Given the description of an element on the screen output the (x, y) to click on. 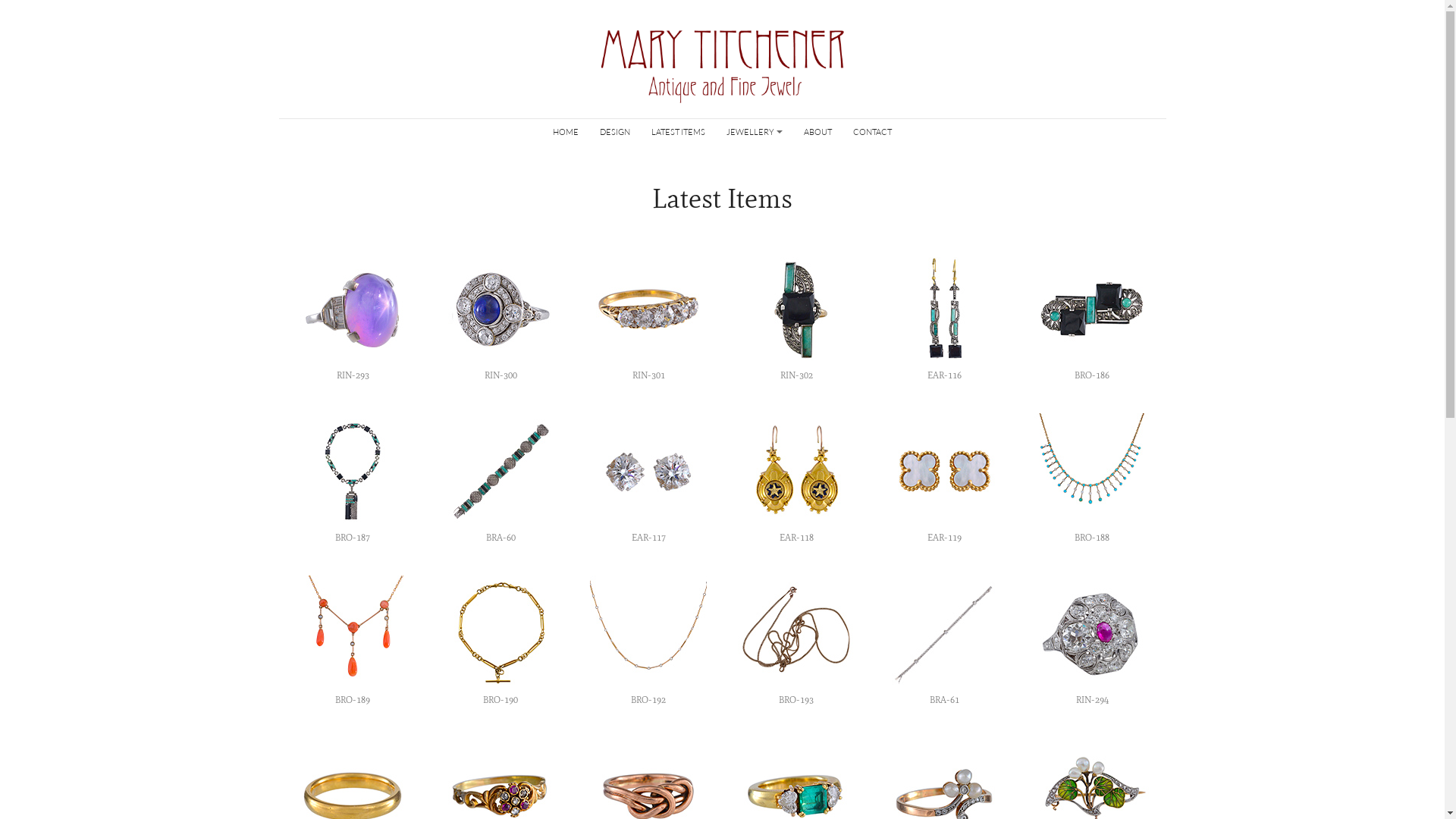
RIN-302 Element type: text (796, 316)
BRA-61 Element type: text (943, 641)
EAR-118 Element type: text (796, 479)
CONTACT Element type: text (872, 130)
BRO-187 Element type: text (351, 479)
HOME Element type: text (565, 130)
EAR-119 Element type: text (943, 479)
BRO-189 Element type: text (351, 641)
DESIGN Element type: text (614, 130)
LATEST ITEMS Element type: text (677, 130)
BRO-188 Element type: text (1091, 479)
RIN-301 Element type: text (647, 316)
RIN-300 Element type: text (500, 316)
RIN-293 Element type: text (351, 316)
BRO-190 Element type: text (500, 641)
JEWELLERY Element type: text (754, 130)
EAR-116 Element type: text (943, 316)
RIN-294 Element type: text (1091, 641)
ABOUT Element type: text (817, 130)
BRO-192 Element type: text (647, 641)
EAR-117 Element type: text (647, 479)
BRA-60 Element type: text (500, 479)
BRO-193 Element type: text (796, 641)
BRO-186 Element type: text (1091, 316)
